Given the description of an element on the screen output the (x, y) to click on. 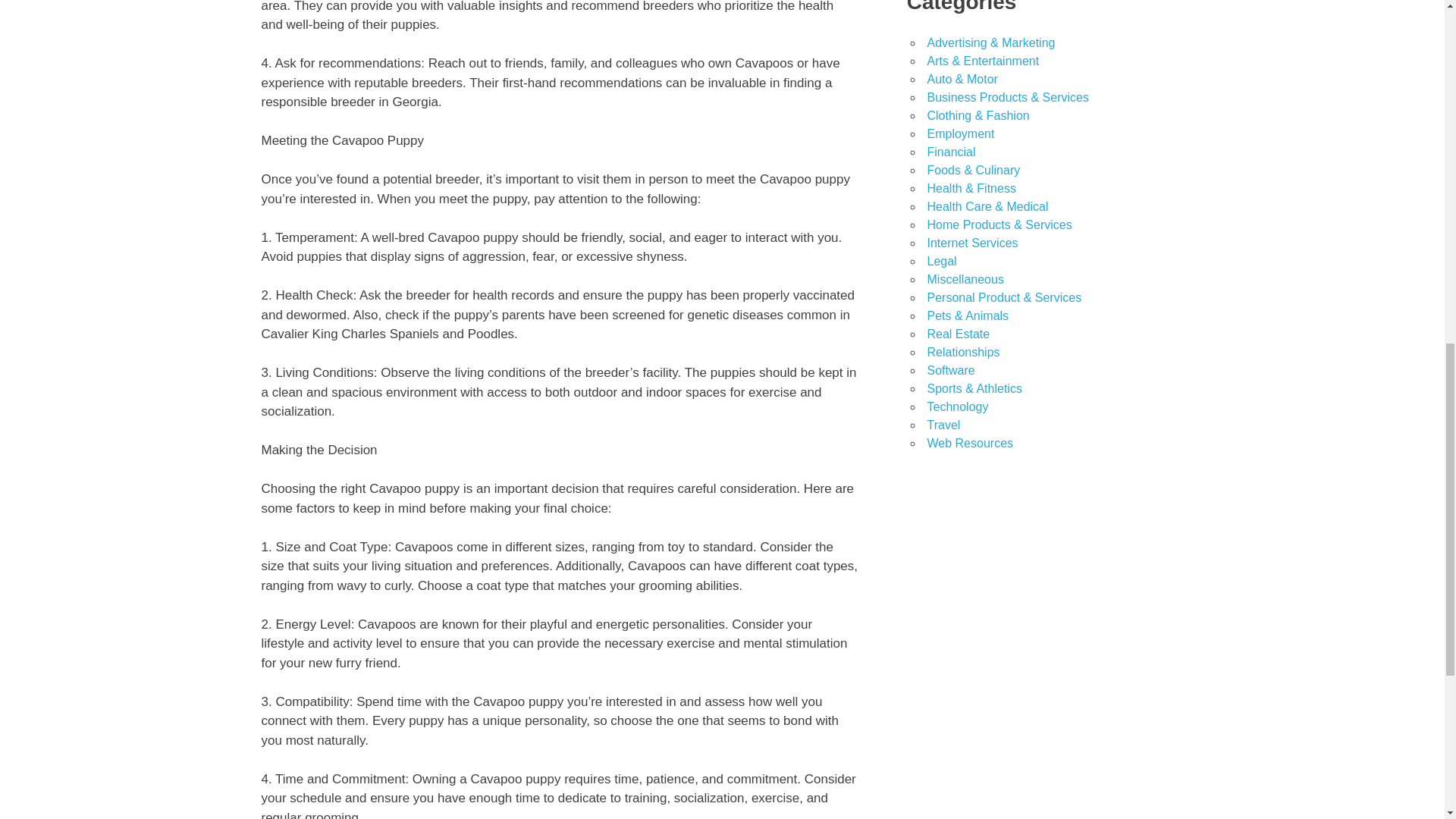
Legal (941, 260)
Internet Services (971, 242)
Financial (950, 151)
Miscellaneous (964, 278)
Real Estate (958, 333)
Employment (960, 133)
